Given the description of an element on the screen output the (x, y) to click on. 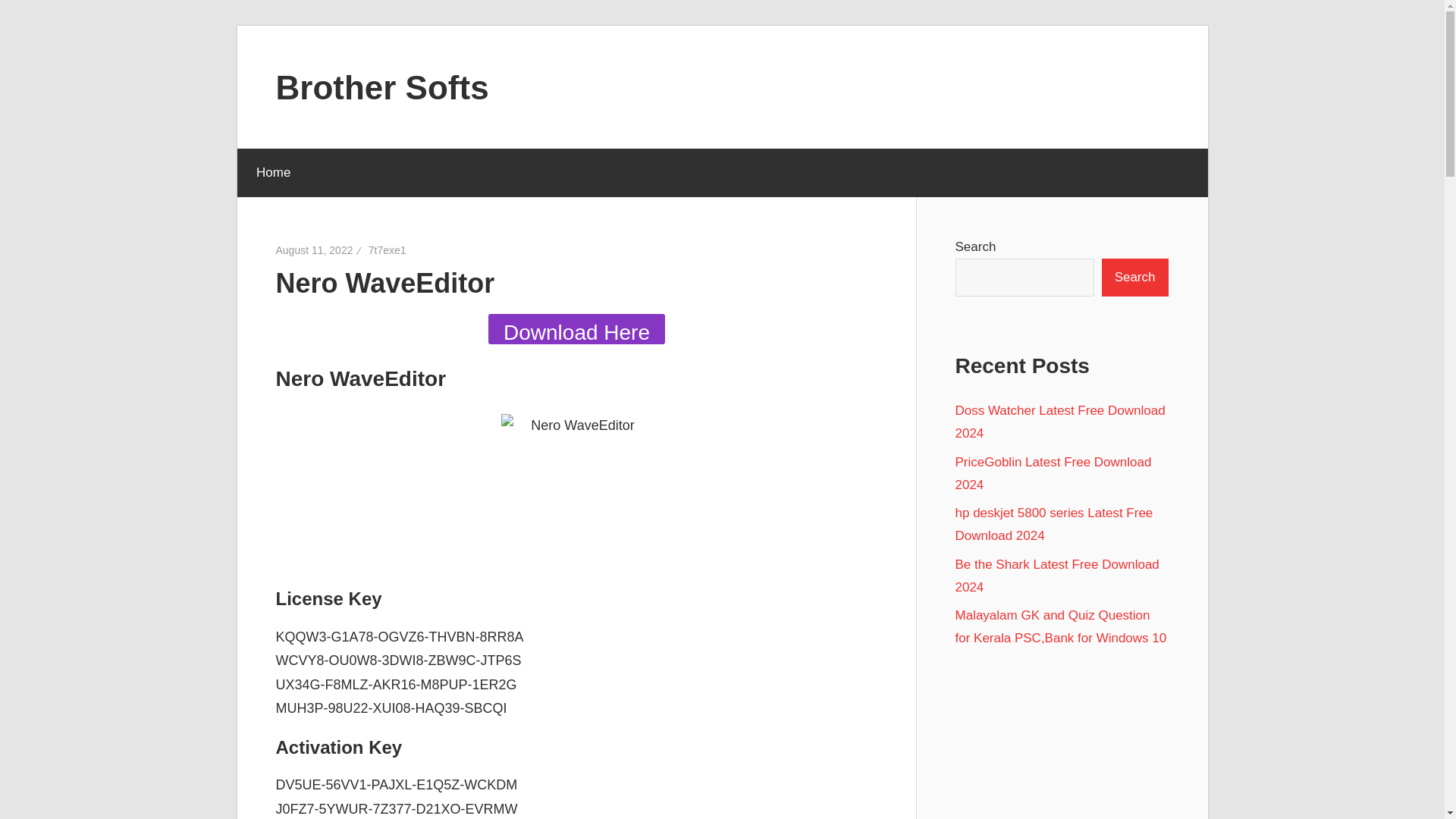
7t7exe1 (387, 250)
Be the Shark Latest Free Download 2024 (1056, 575)
PriceGoblin Latest Free Download 2024 (1053, 473)
hp deskjet 5800 series Latest Free Download 2024 (1054, 524)
Download Here (576, 328)
7:01 pm (314, 250)
Brother Softs (382, 86)
Home (271, 172)
Doss Watcher Latest Free Download 2024 (1060, 421)
